Given the description of an element on the screen output the (x, y) to click on. 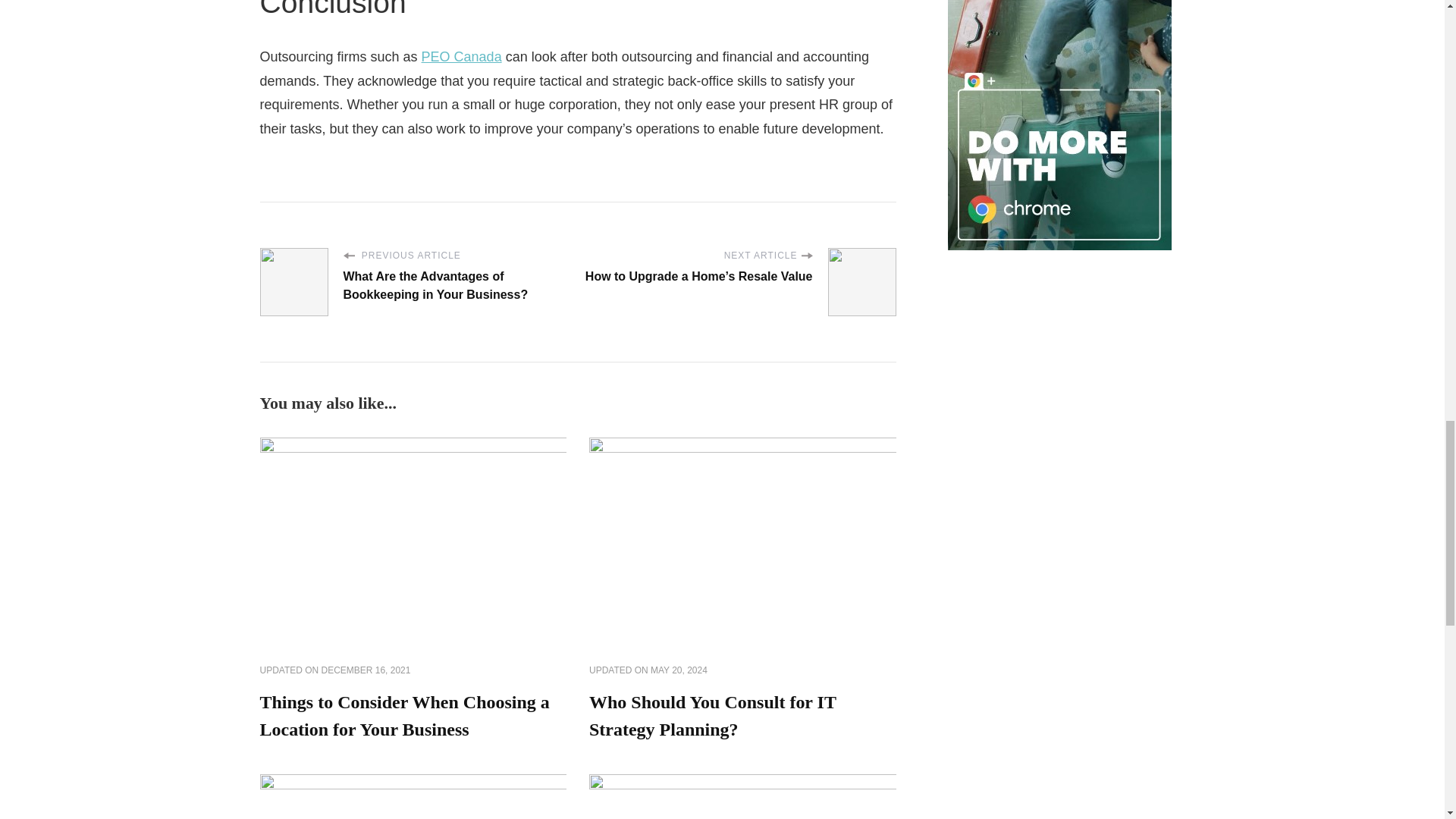
MAY 20, 2024 (678, 671)
DECEMBER 16, 2021 (365, 671)
PEO Canada (462, 56)
Who Should You Consult for IT Strategy Planning? (712, 715)
